Given the description of an element on the screen output the (x, y) to click on. 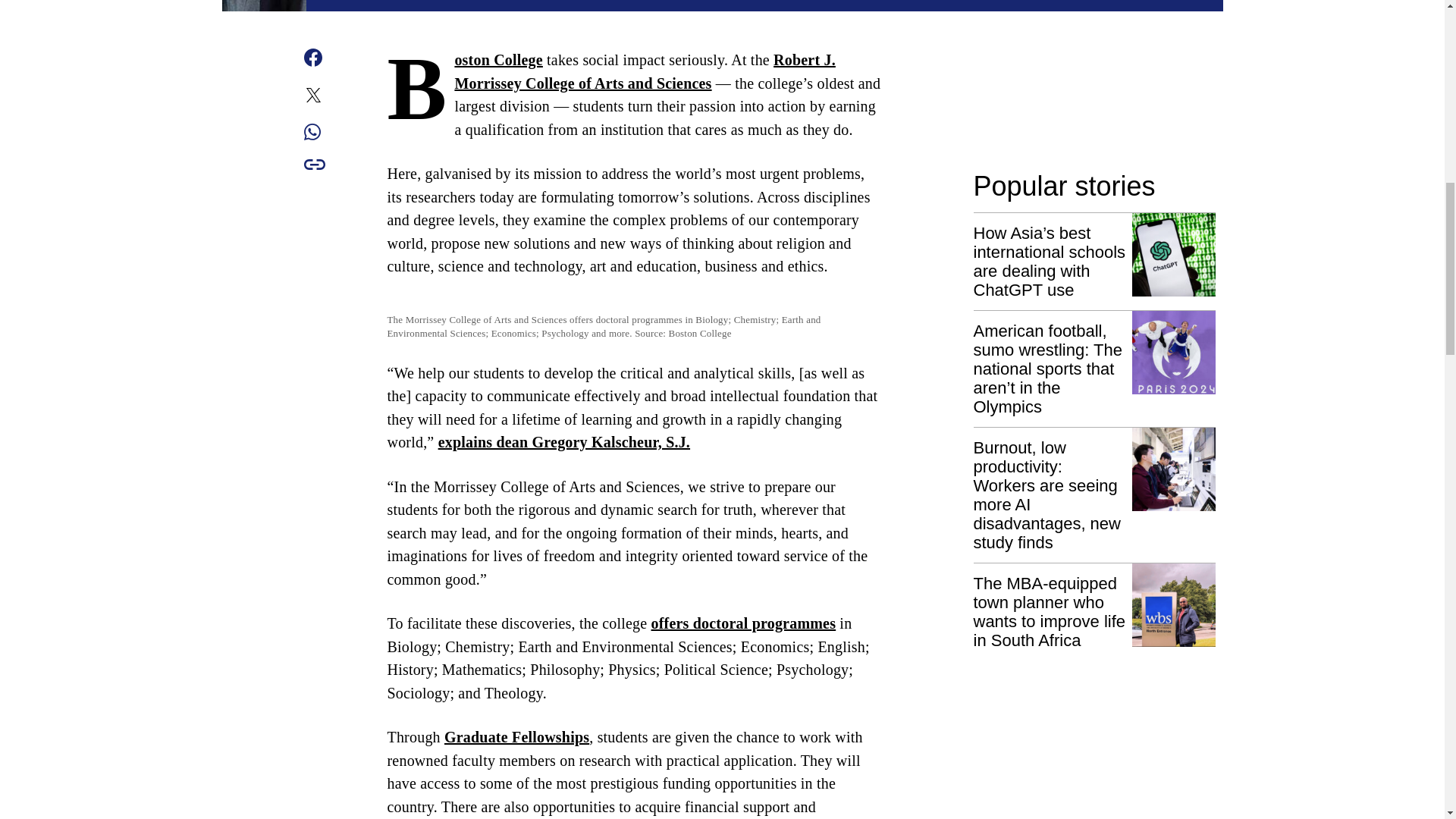
Graduate Fellowships (516, 736)
Robert J. Morrissey College of Arts and Sciences (644, 71)
Boston College (497, 59)
offers doctoral programmes (742, 623)
explains dean Gregory Kalscheur, S.J. (564, 442)
